Given the description of an element on the screen output the (x, y) to click on. 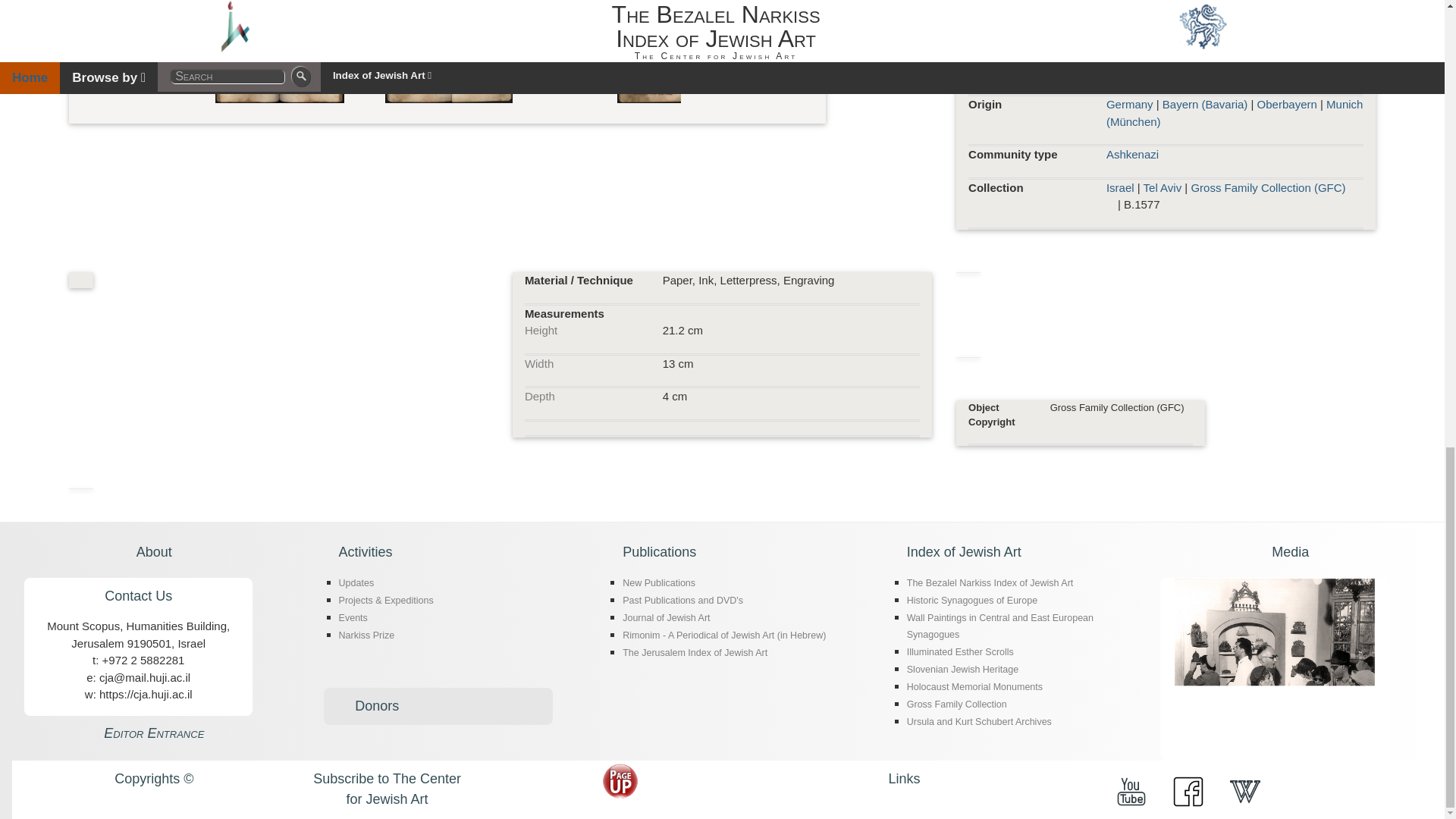
Germany (1129, 103)
Oberbayern (1287, 103)
Fleischmann, Ernst August, Printing House in Munich (1220, 62)
